Given the description of an element on the screen output the (x, y) to click on. 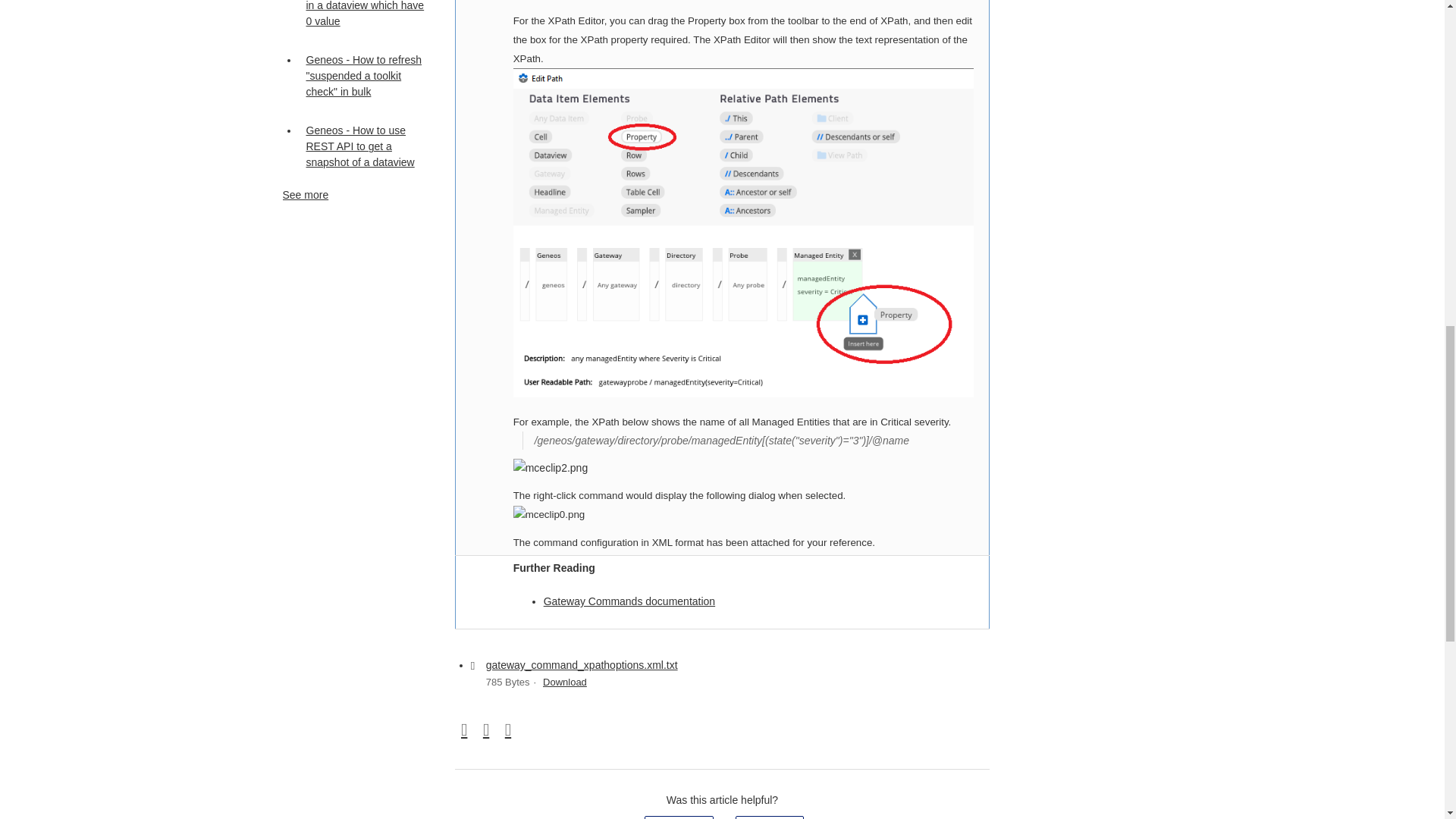
Download (564, 681)
Facebook (464, 730)
No (769, 817)
Geneos - How to refresh "suspended a toolkit check" in bulk (365, 76)
Geneos - How to use REST API to get a snapshot of a dataview (365, 146)
Gateway Commands documentation (628, 601)
See more (305, 194)
LinkedIn (506, 730)
Twitter (486, 730)
Yes (679, 817)
